Given the description of an element on the screen output the (x, y) to click on. 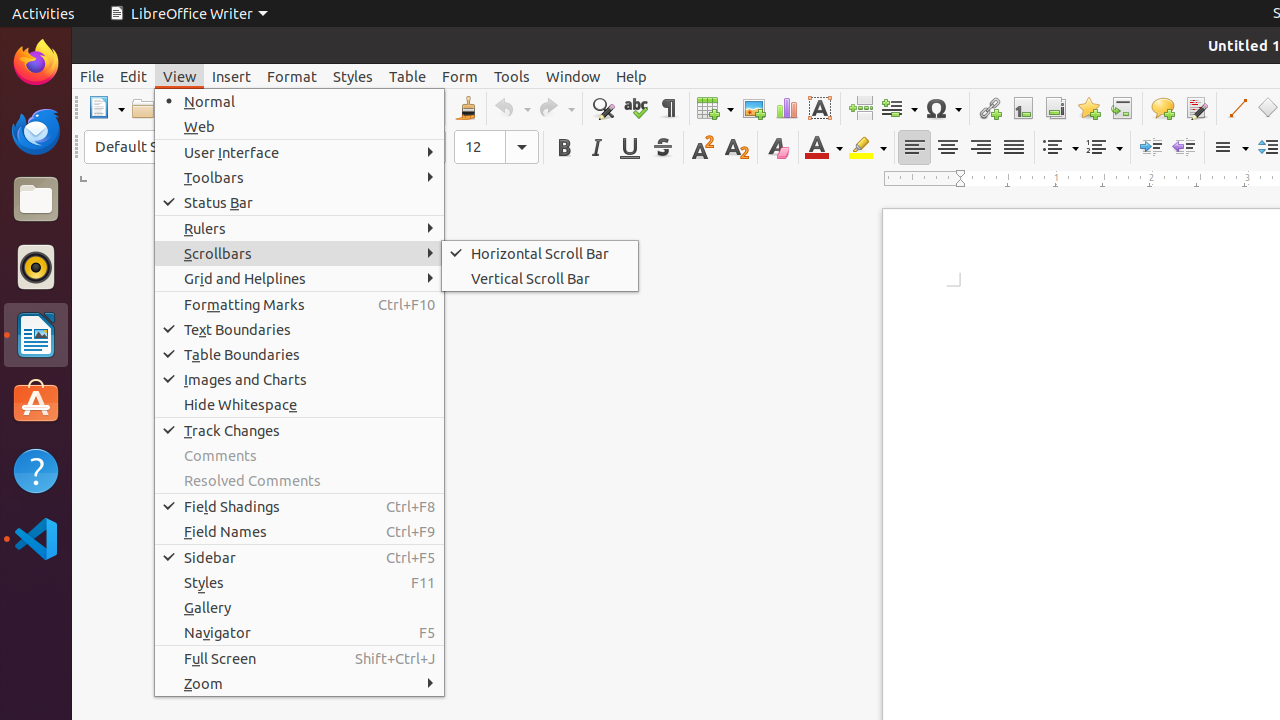
Cross-reference Element type: push-button (1121, 108)
Numbering Element type: push-button (1104, 147)
Comment Element type: push-button (1162, 108)
Rhythmbox Element type: push-button (36, 267)
Styles Element type: menu-item (299, 582)
